Given the description of an element on the screen output the (x, y) to click on. 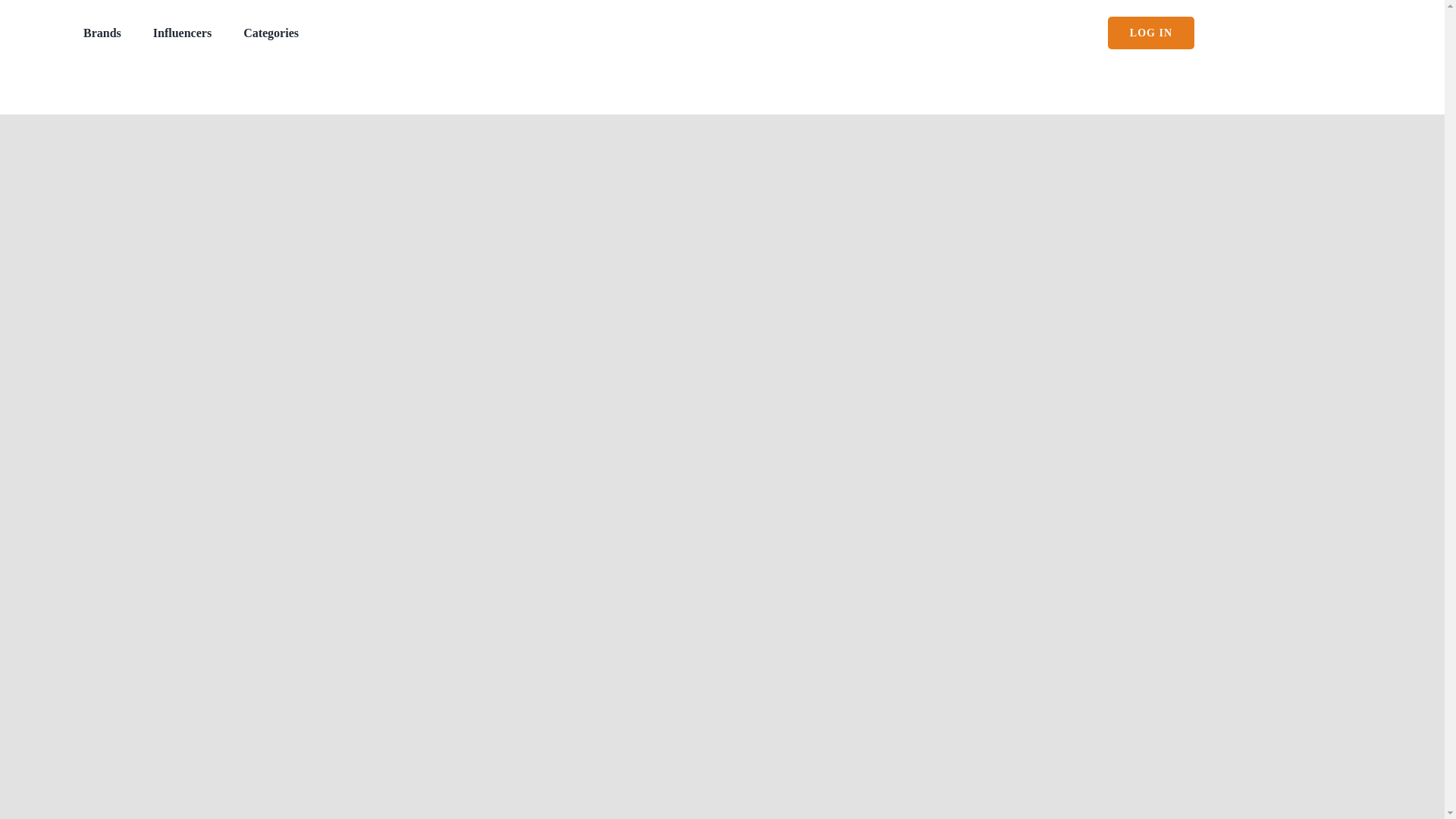
Influencers (181, 31)
LOG IN (1150, 31)
